Given the description of an element on the screen output the (x, y) to click on. 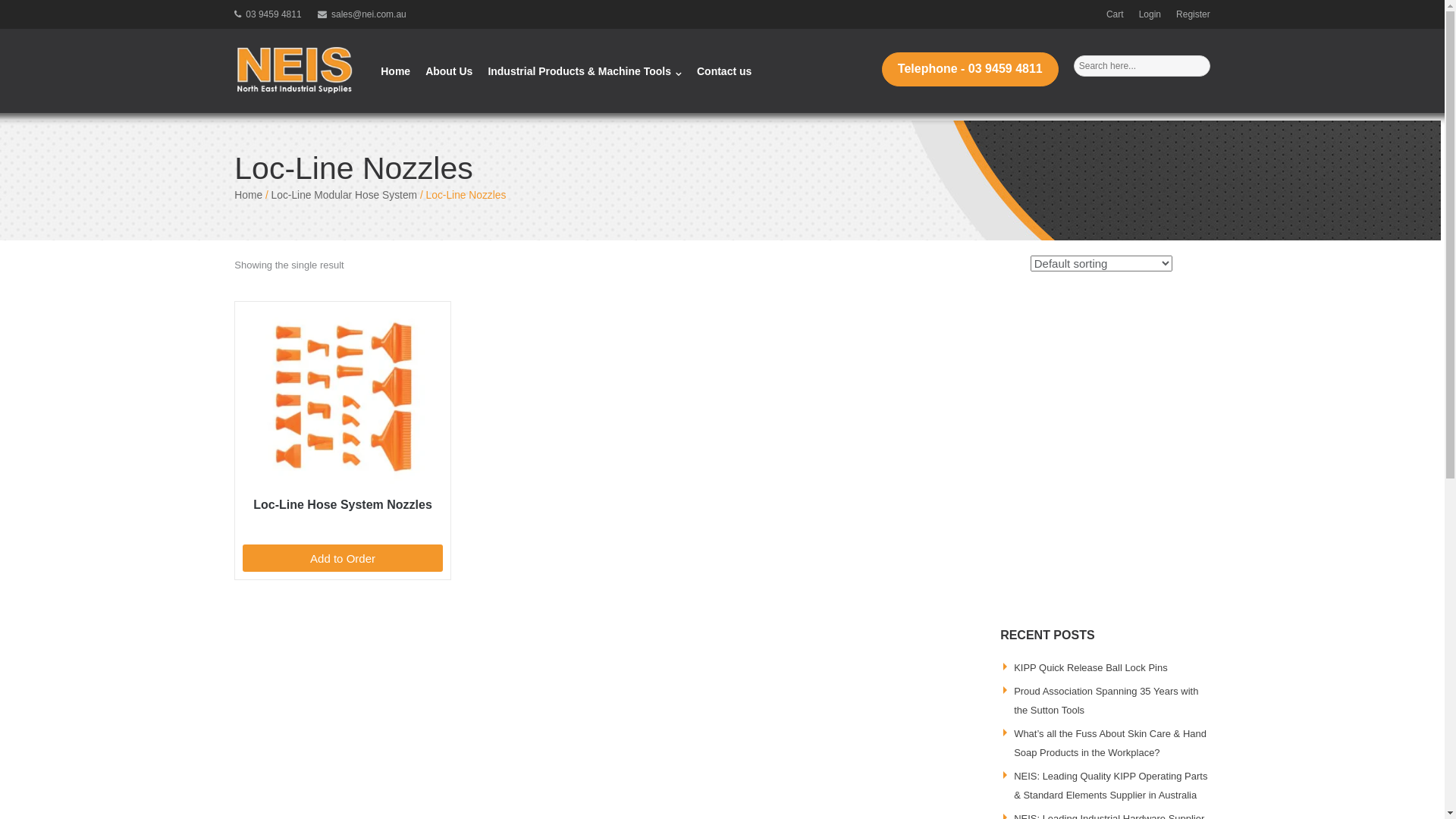
Loc-Line Hose System Accessories Element type: hover (341, 396)
Loc-Line Hose System Nozzles Element type: text (342, 421)
About Us Element type: text (448, 70)
Cart Element type: text (1114, 14)
03 9459 4811 Element type: text (267, 14)
KIPP Quick Release Ball Lock Pins Element type: text (1090, 667)
Home Element type: text (395, 70)
Industrial Products & Machine Tools Element type: text (584, 70)
Login Element type: text (1150, 14)
Home Element type: text (248, 194)
sales@nei.com.au Element type: text (361, 14)
Loc-Line Modular Hose System Element type: text (344, 194)
Add to Order Element type: text (342, 557)
Proud Association Spanning 35 Years with the Sutton Tools Element type: text (1105, 700)
North East Industrial Supplies Element type: hover (295, 71)
Register Element type: text (1193, 14)
Telephone - 03 9459 4811 Element type: text (969, 69)
Contact us Element type: text (723, 70)
